Given the description of an element on the screen output the (x, y) to click on. 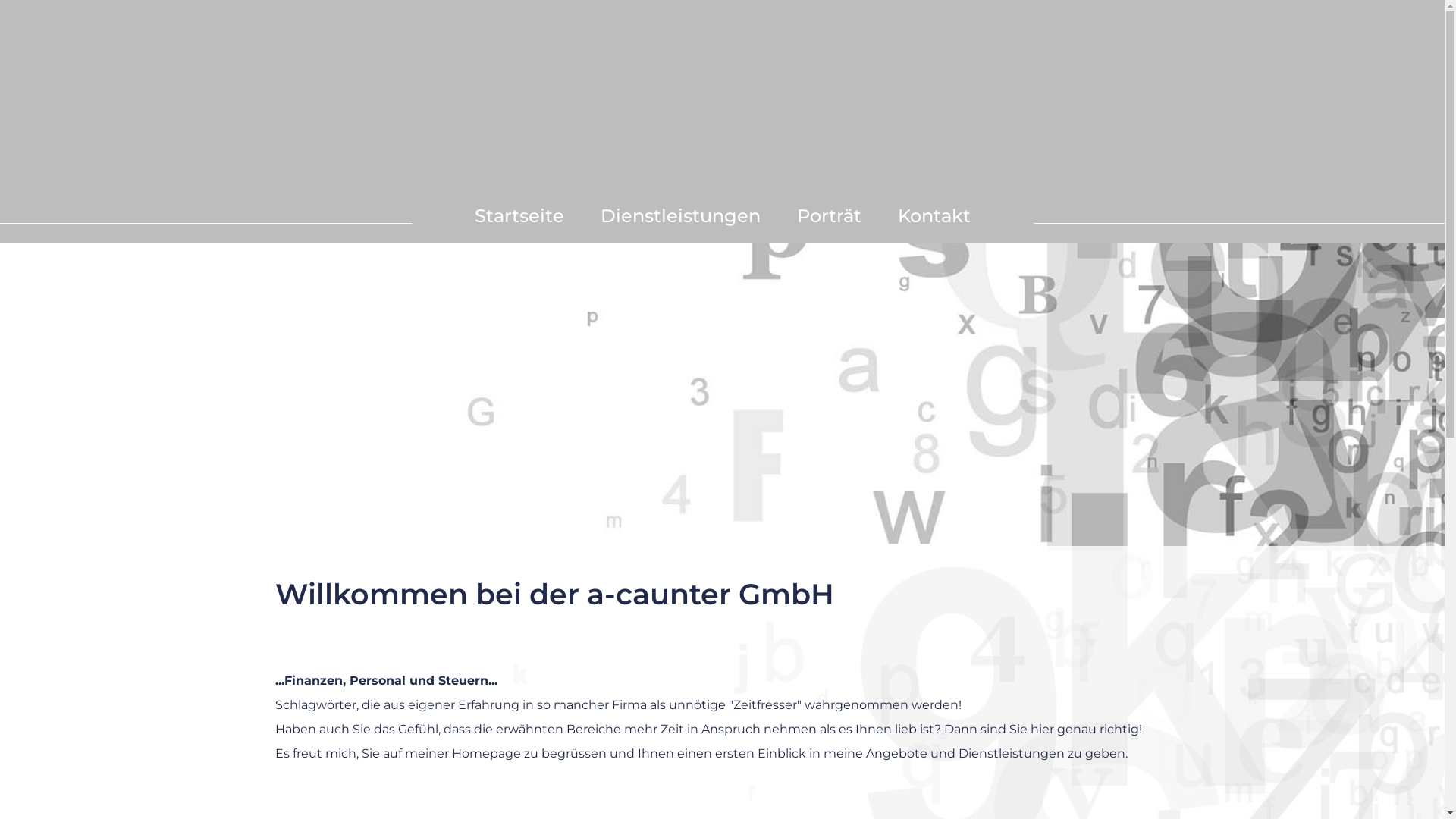
Kontakt Element type: text (943, 215)
Dienstleistungen Element type: text (680, 215)
Startseite Element type: text (510, 215)
